Given the description of an element on the screen output the (x, y) to click on. 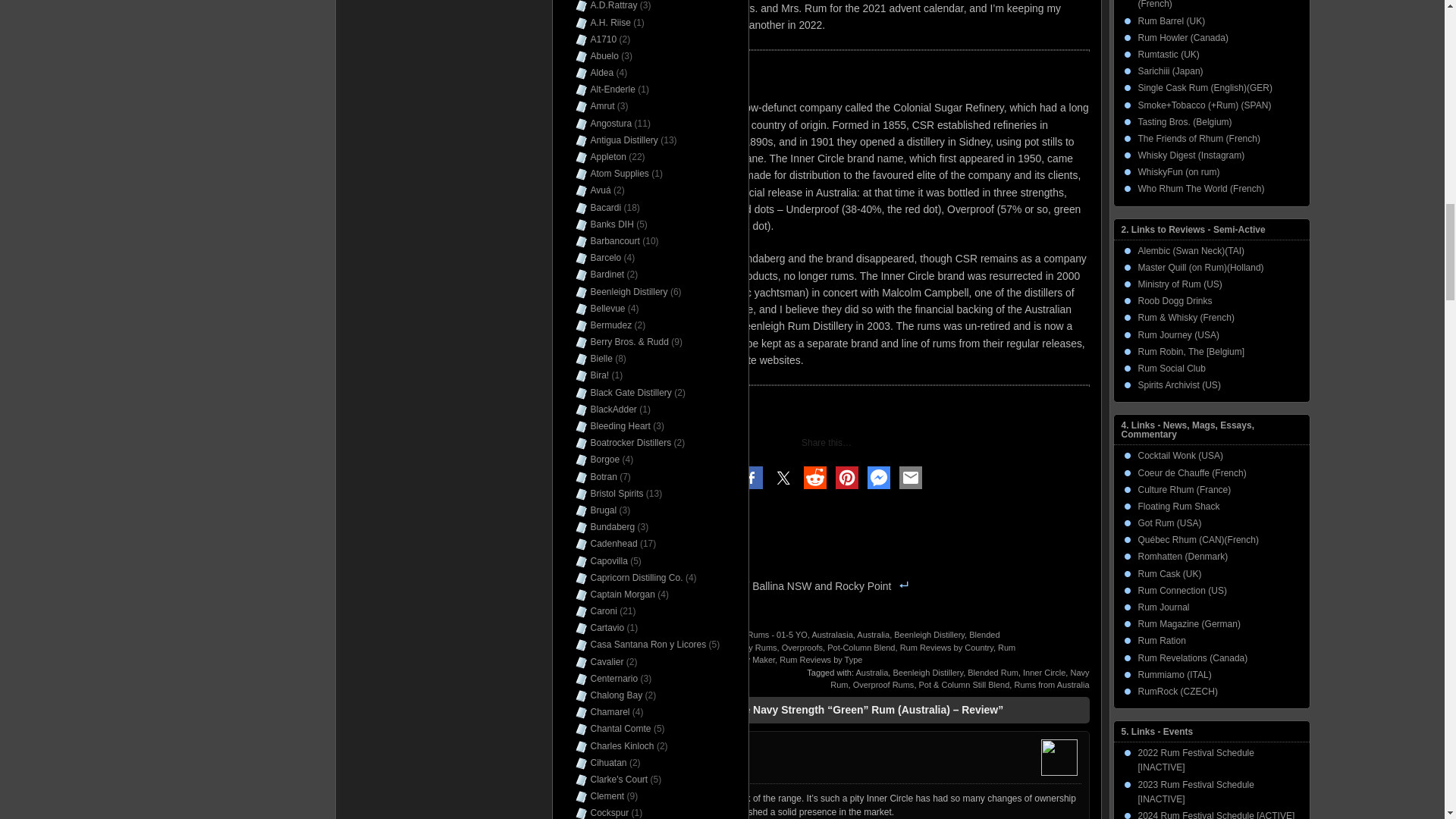
Navy Rums (755, 646)
Ruminsky (639, 634)
Overproofs (801, 646)
Blended Rums (853, 640)
Rum Reviews by Country (945, 646)
Aged Rums - 01-5 YO (766, 634)
Beenleigh Distillery (928, 634)
Australasia (830, 634)
Pot-Column Blend (861, 646)
Australia (873, 634)
